Given the description of an element on the screen output the (x, y) to click on. 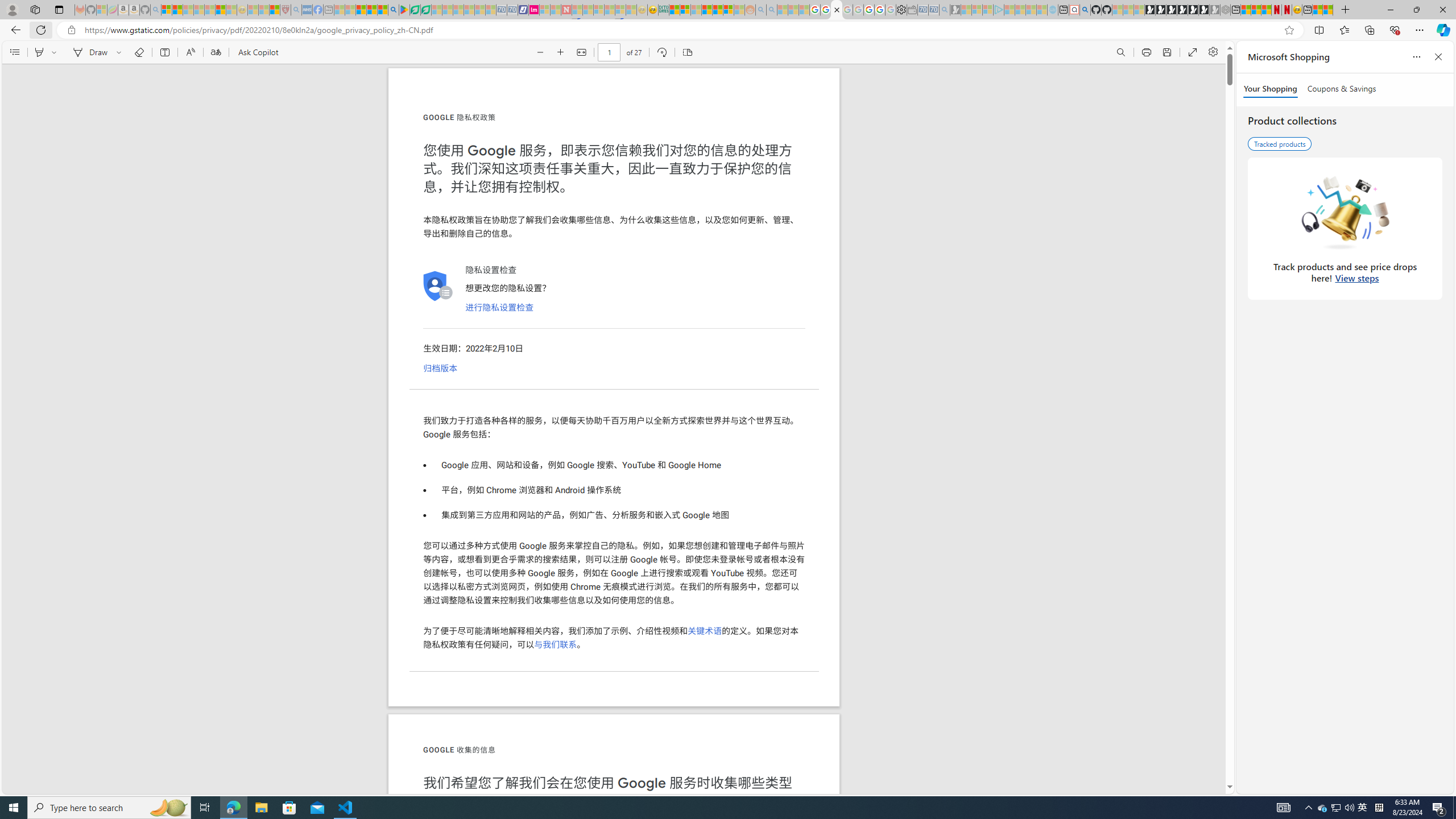
Settings and more (1212, 52)
Translate (215, 52)
Print (Ctrl+P) (1146, 52)
MSNBC - MSN - Sleeping (339, 9)
Enter PDF full screen (1192, 52)
Zoom in (Ctrl+Plus key) (561, 52)
